Given the description of an element on the screen output the (x, y) to click on. 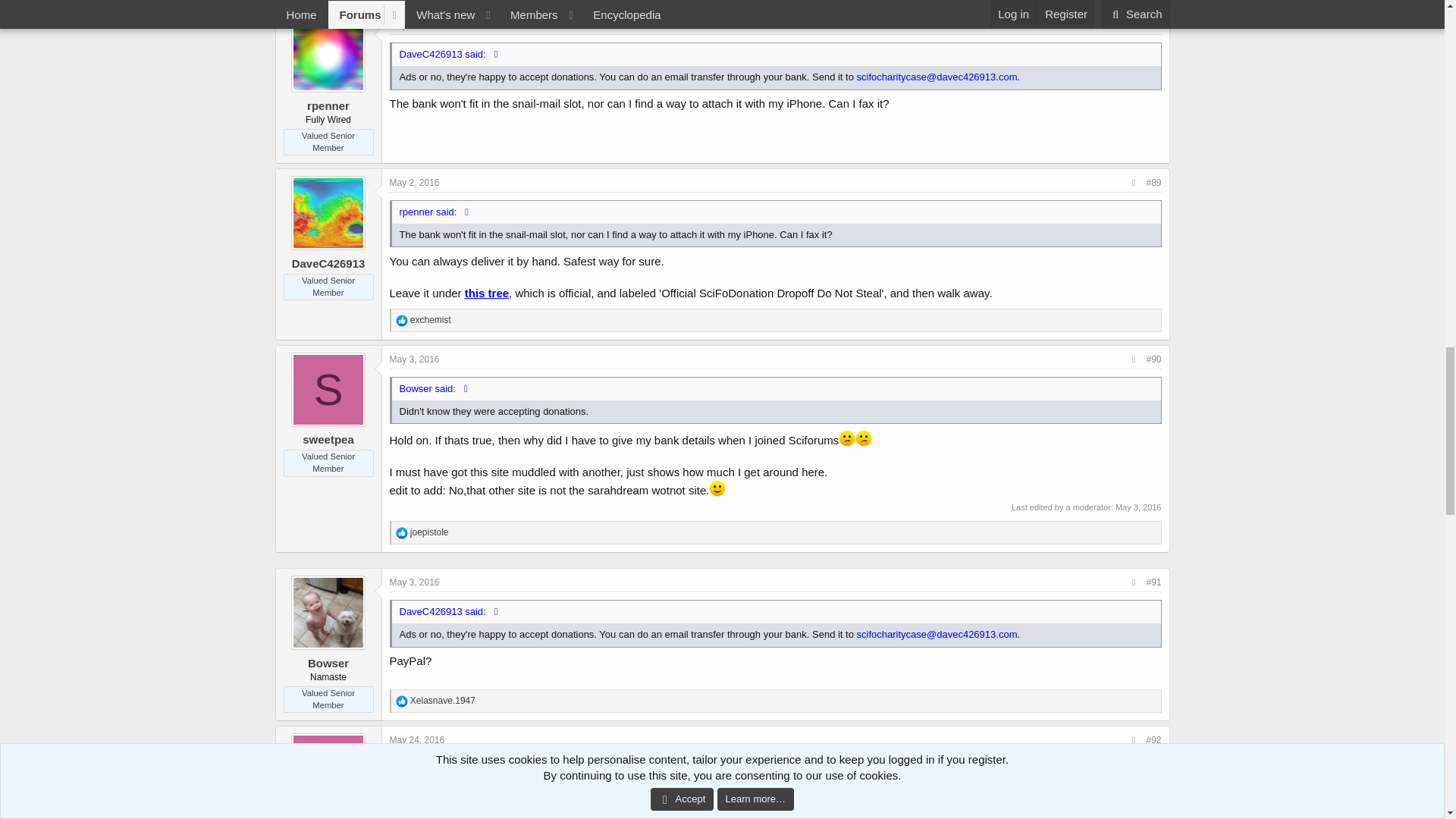
May 2, 2016 at 8:55 PM (414, 182)
Like (401, 320)
May 2, 2016 at 8:12 PM (414, 24)
May 3, 2016 at 1:26 PM (414, 358)
